Given the description of an element on the screen output the (x, y) to click on. 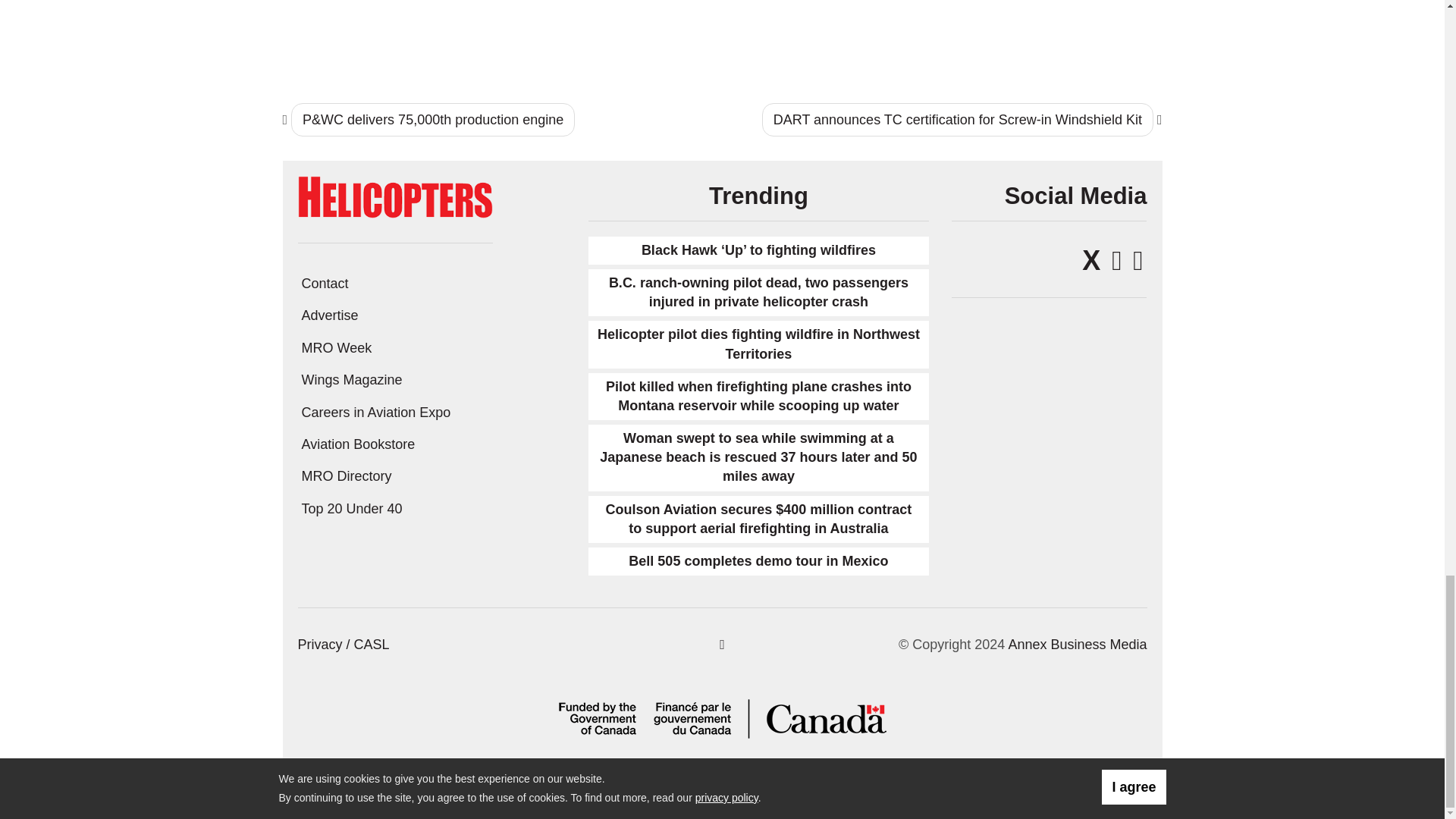
Helicopters Magazine (395, 196)
Annex Business Media (1077, 644)
